Given the description of an element on the screen output the (x, y) to click on. 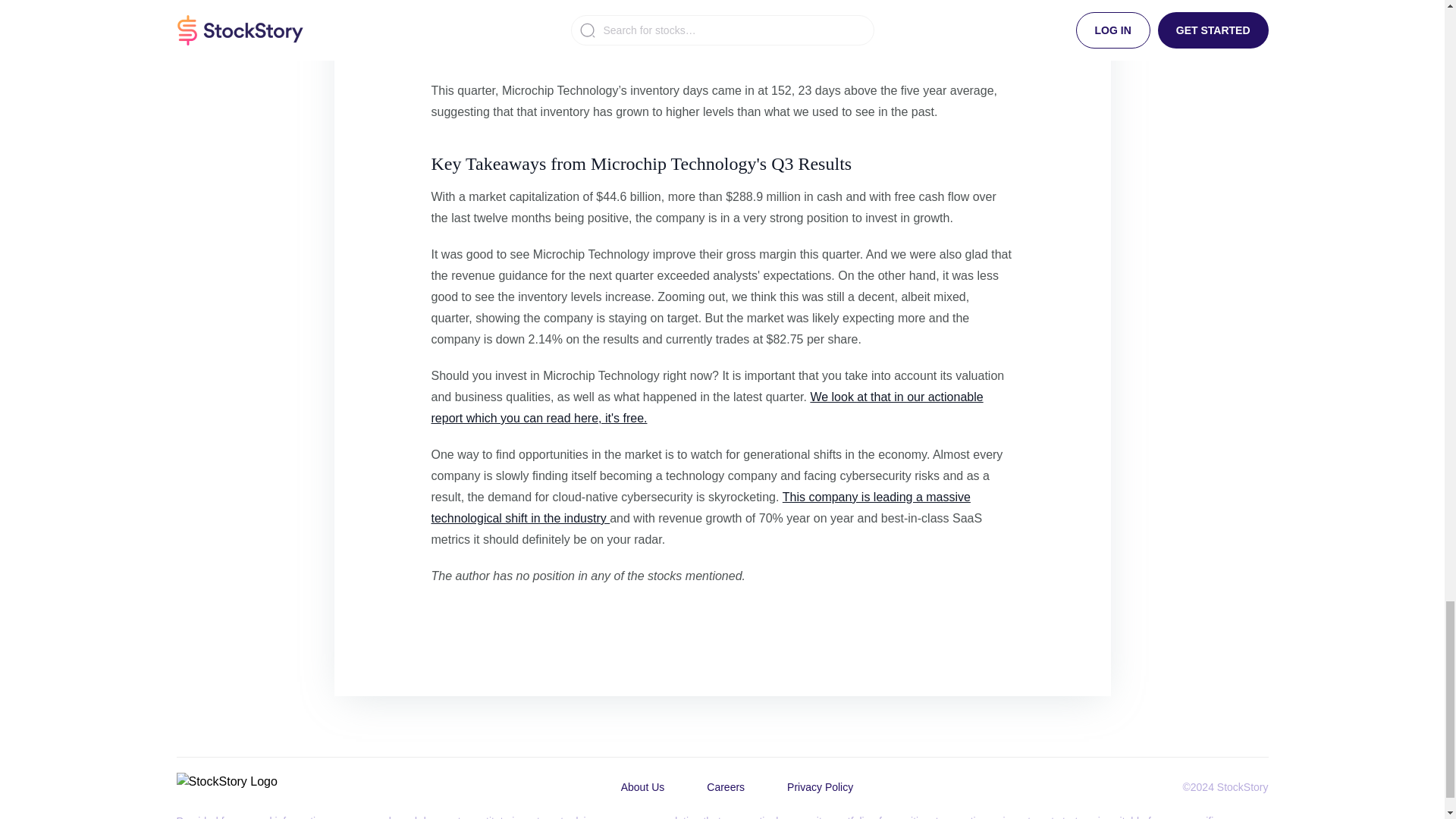
Careers (725, 787)
Privacy Policy (819, 787)
About Us (642, 787)
